Given the description of an element on the screen output the (x, y) to click on. 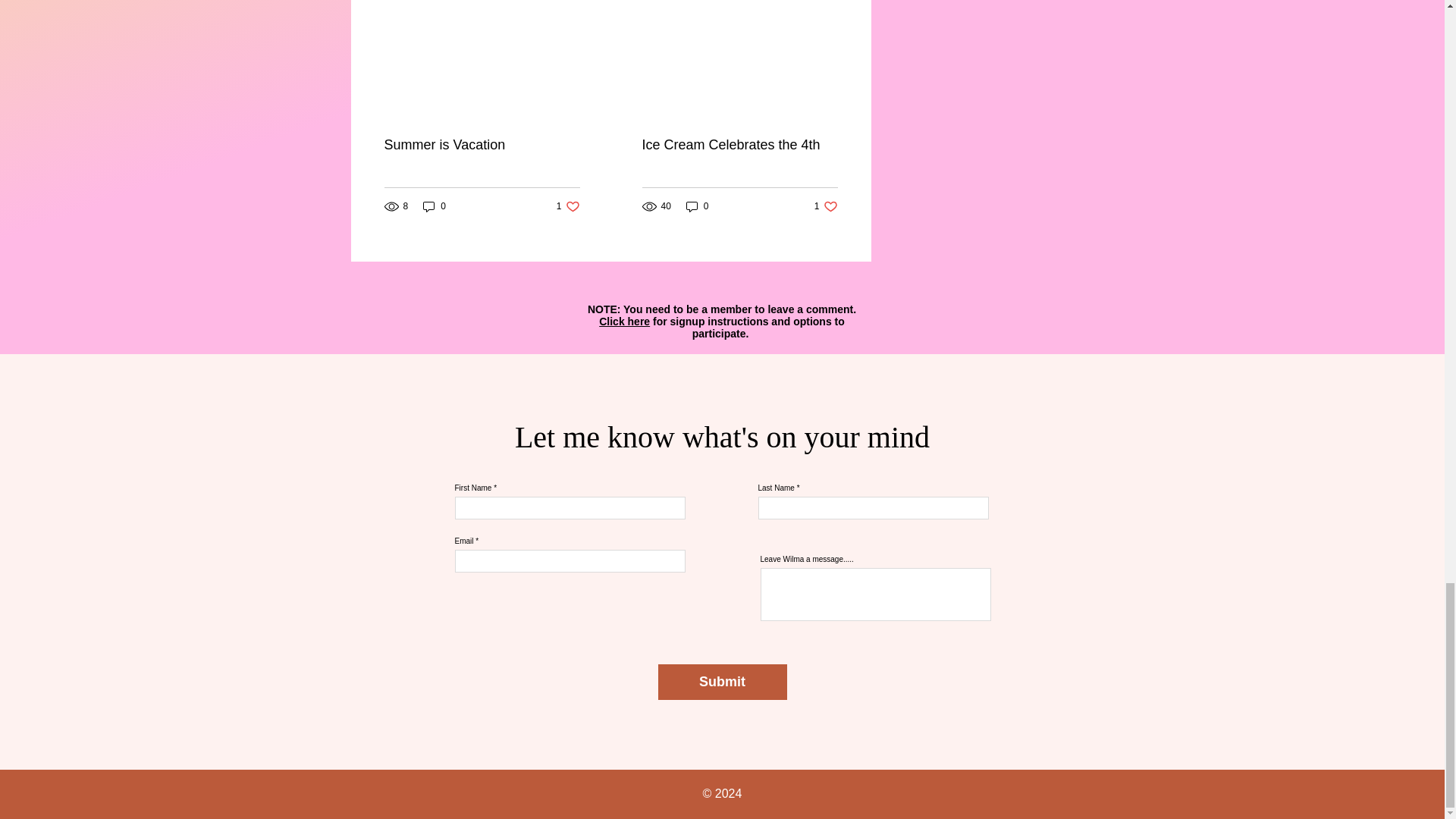
0 (567, 206)
Ice Cream Celebrates the 4th (434, 206)
Summer is Vacation (739, 145)
0 (481, 145)
